Given the description of an element on the screen output the (x, y) to click on. 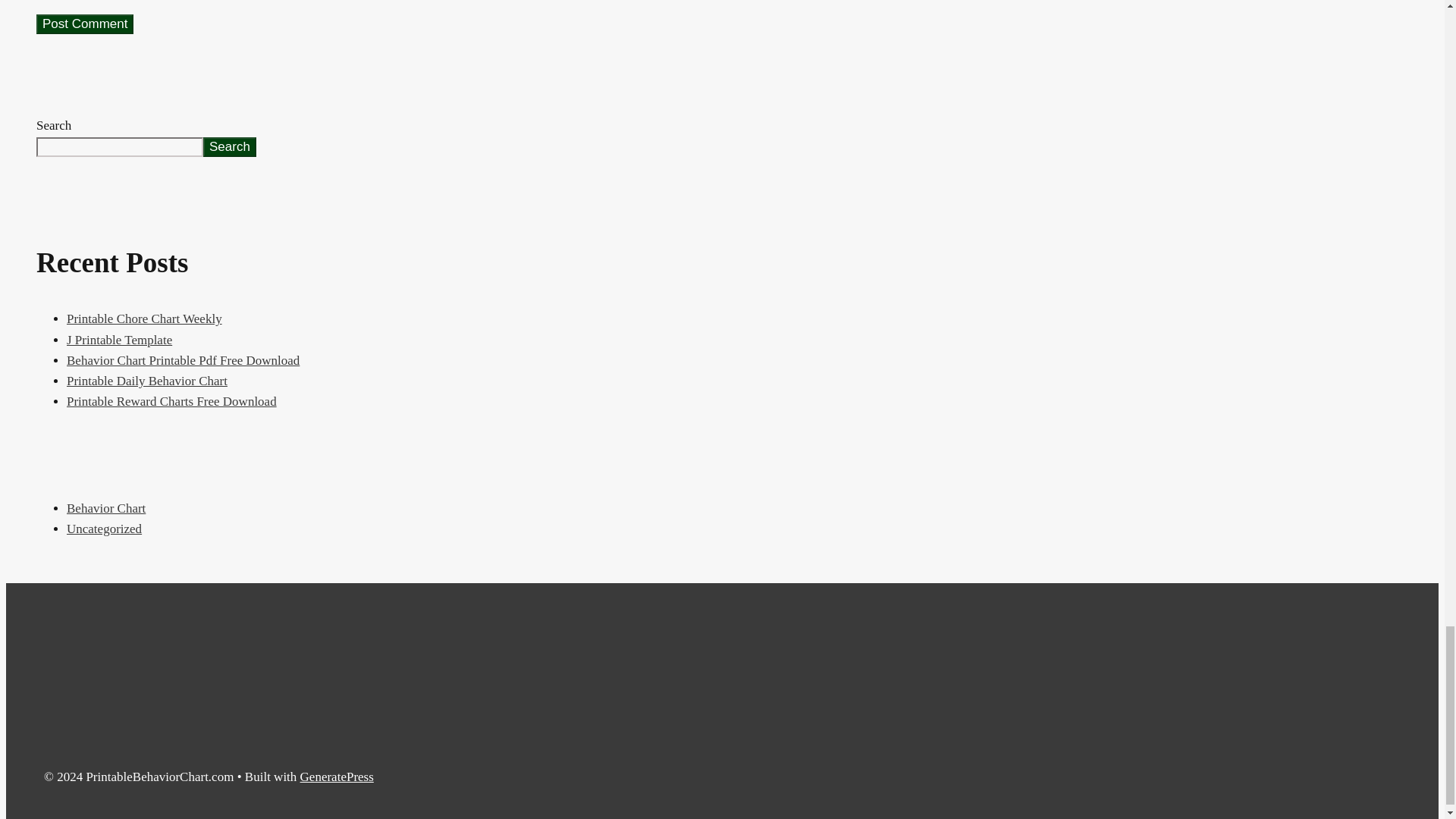
Behavior Chart Printable Pdf Free Download (182, 359)
Printable Daily Behavior Chart (146, 380)
Printable Chore Chart Weekly (144, 318)
Uncategorized (103, 528)
GeneratePress (336, 776)
Search (229, 147)
Post Comment (84, 24)
Printable Reward Charts Free Download (171, 400)
J Printable Template (118, 339)
Post Comment (84, 24)
